Given the description of an element on the screen output the (x, y) to click on. 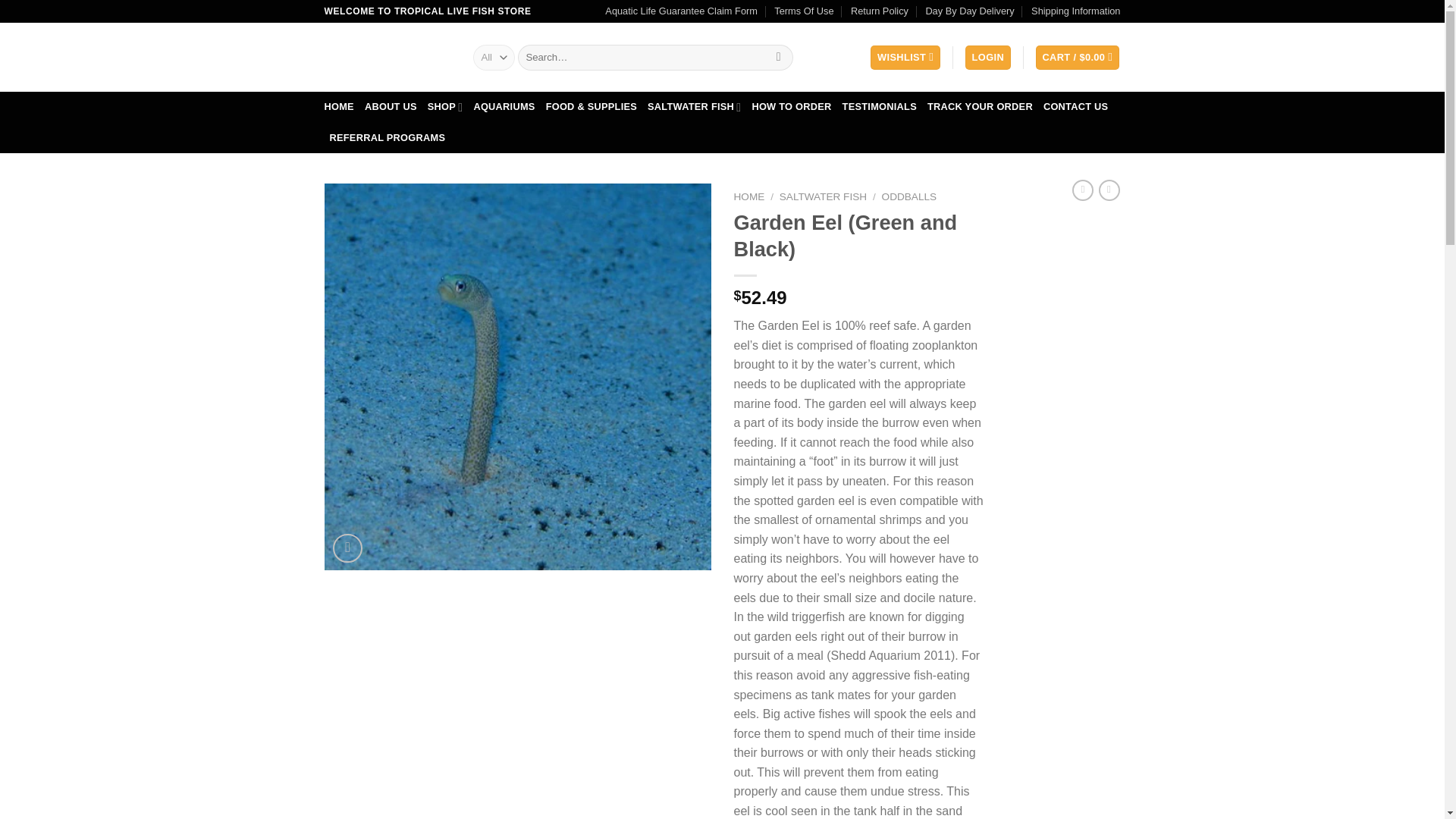
Cart (1077, 57)
LOGIN (987, 57)
SHOP (445, 106)
REFERRAL PROGRAMS (387, 137)
Shipping Information (1074, 11)
ABOUT US (390, 106)
Return Policy (879, 11)
CONTACT US (1075, 106)
HOME (338, 106)
TESTIMONIALS (880, 106)
